Given the description of an element on the screen output the (x, y) to click on. 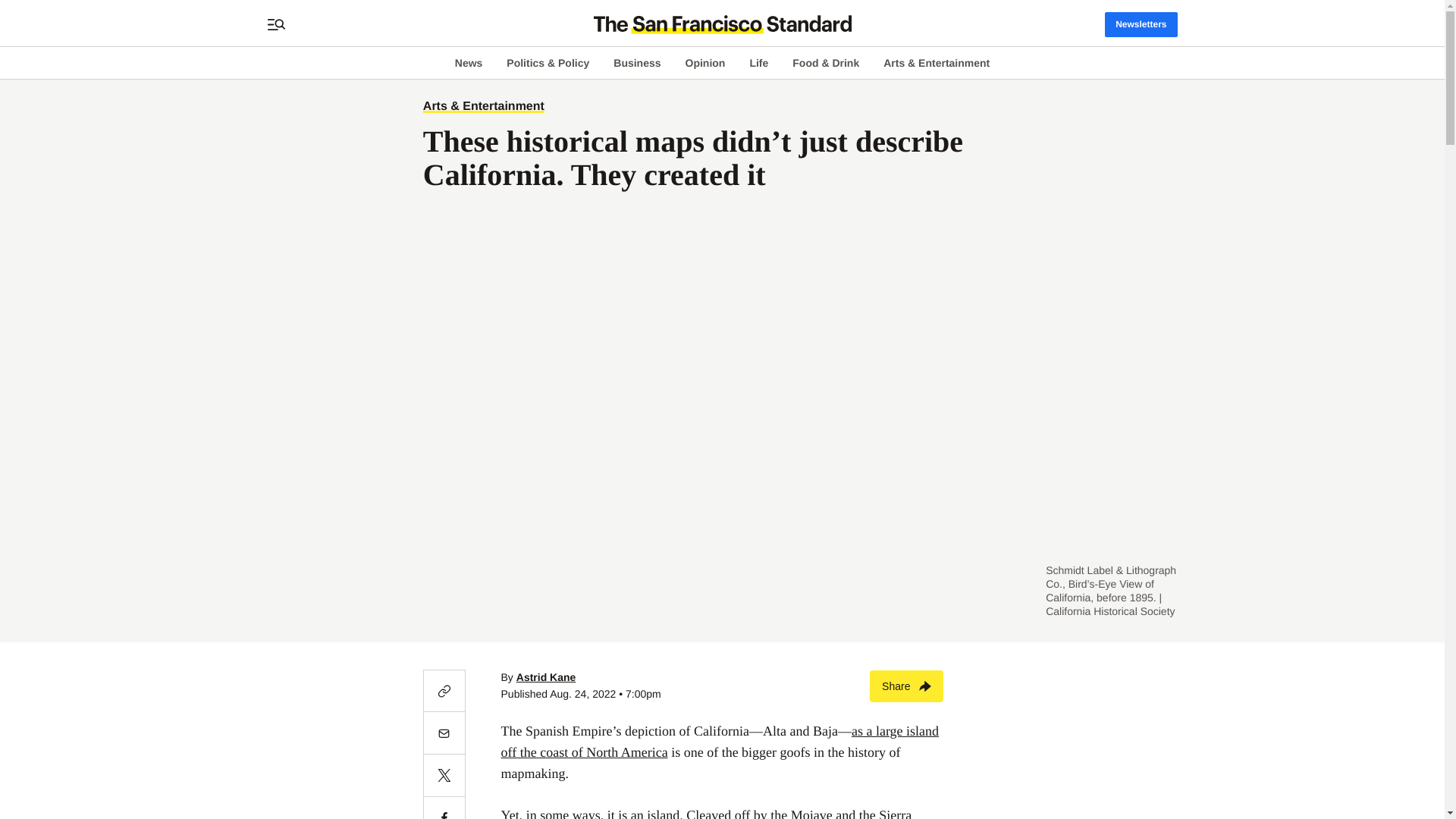
Astrid Kane (546, 676)
Business (636, 62)
News (468, 62)
Opinion (705, 62)
as a large island off the coast of North America (719, 741)
Copy link to this article (444, 690)
Newsletters (1140, 24)
Share (906, 685)
Life (758, 62)
Open search bar and full menu (275, 24)
